Given the description of an element on the screen output the (x, y) to click on. 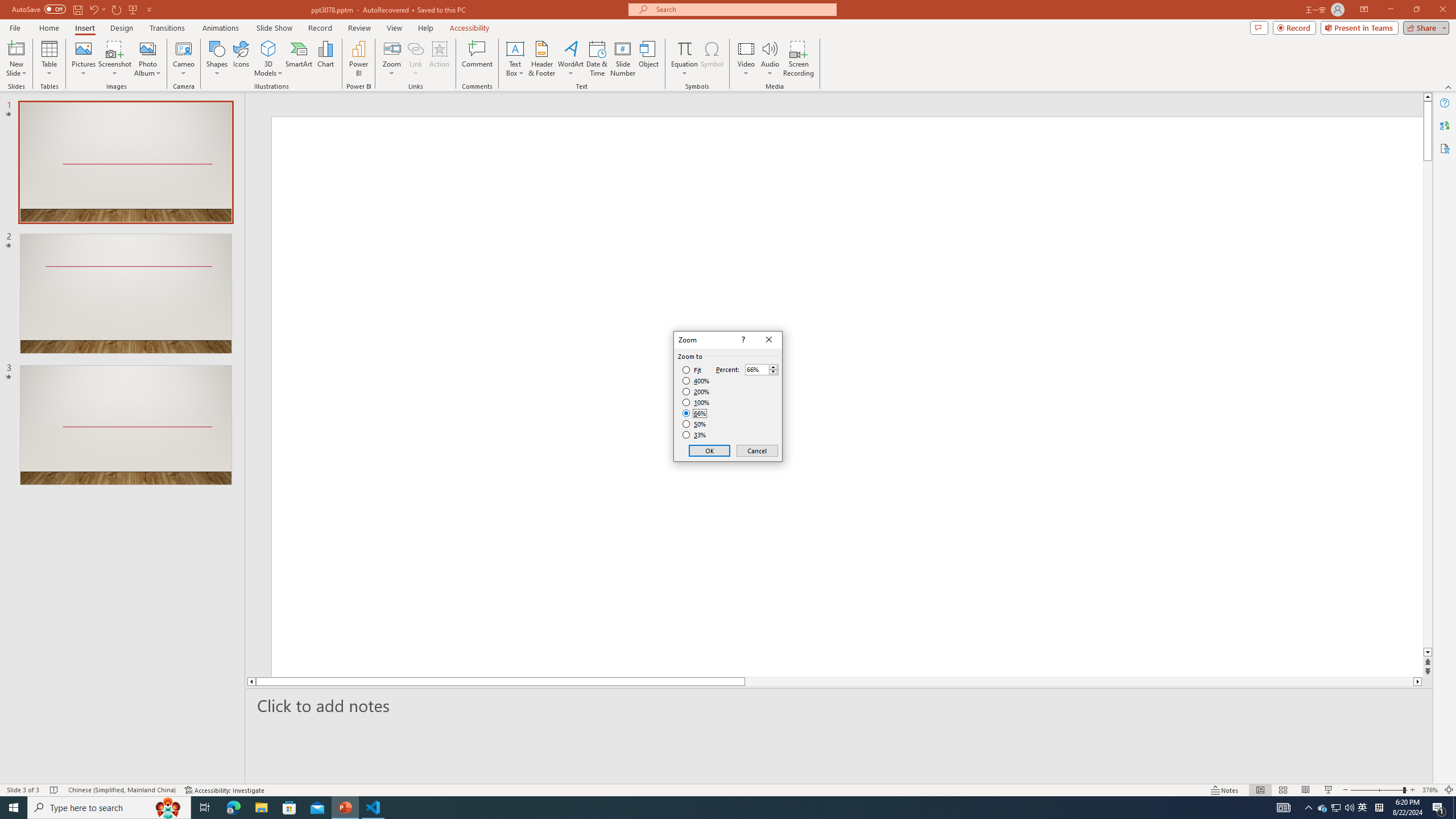
Slide Number (622, 58)
Symbol... (711, 58)
Draw Horizontal Text Box (515, 48)
Page down (1427, 406)
Tray Input Indicator - Chinese (Simplified, China) (1378, 807)
Q2790: 100% (1349, 807)
WordArt (570, 58)
